Given the description of an element on the screen output the (x, y) to click on. 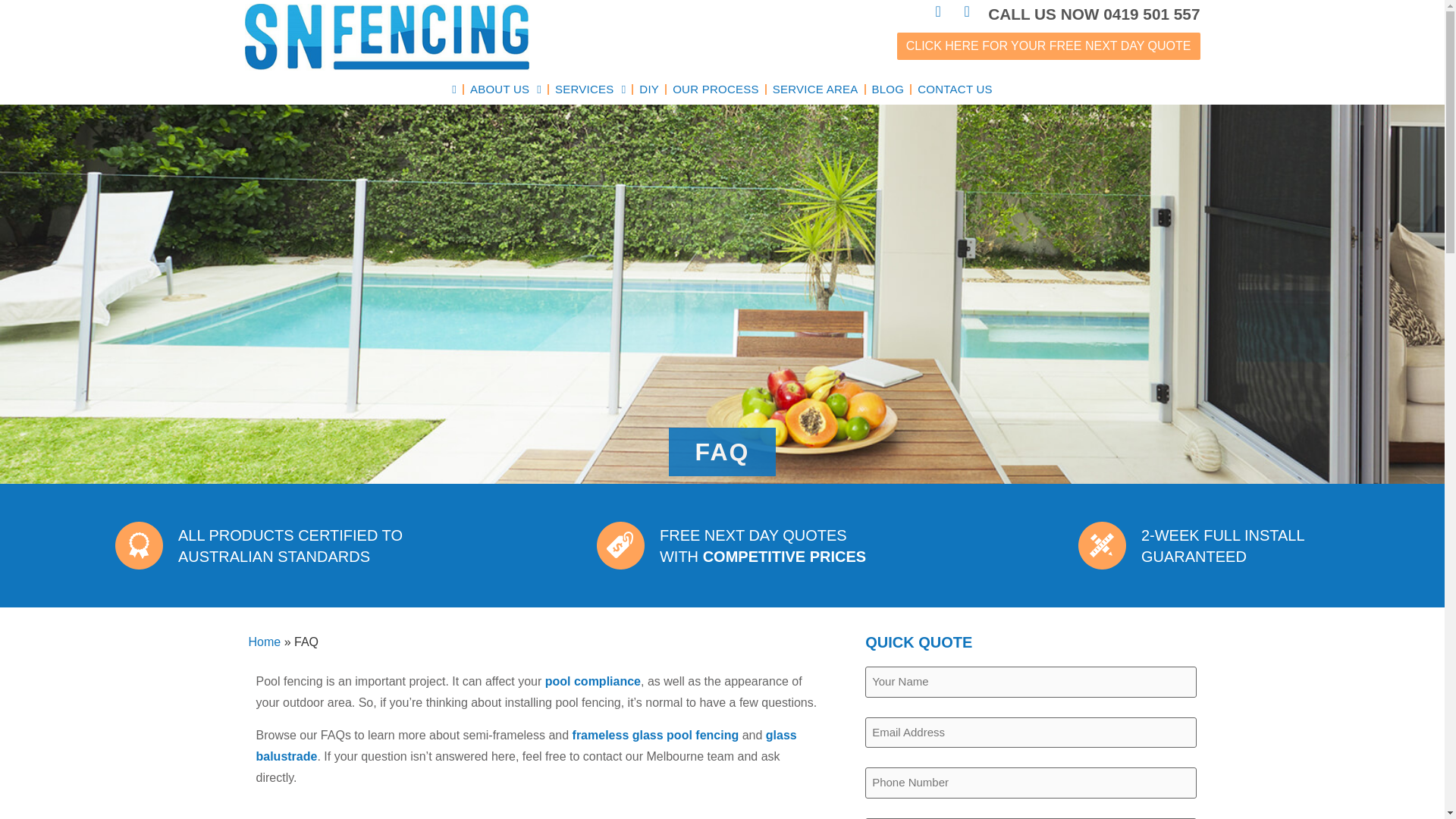
FAQ (620, 545)
SERVICES (589, 89)
CONTACT US (954, 89)
SERVICE AREA (815, 89)
FAQ (1101, 545)
BLOG (888, 89)
OUR PROCESS (715, 89)
CLICK HERE FOR YOUR FREE NEXT DAY QUOTE (1047, 45)
DIY (649, 89)
0419 501 557 (1151, 13)
FAQ (139, 545)
ABOUT US (505, 89)
